Given the description of an element on the screen output the (x, y) to click on. 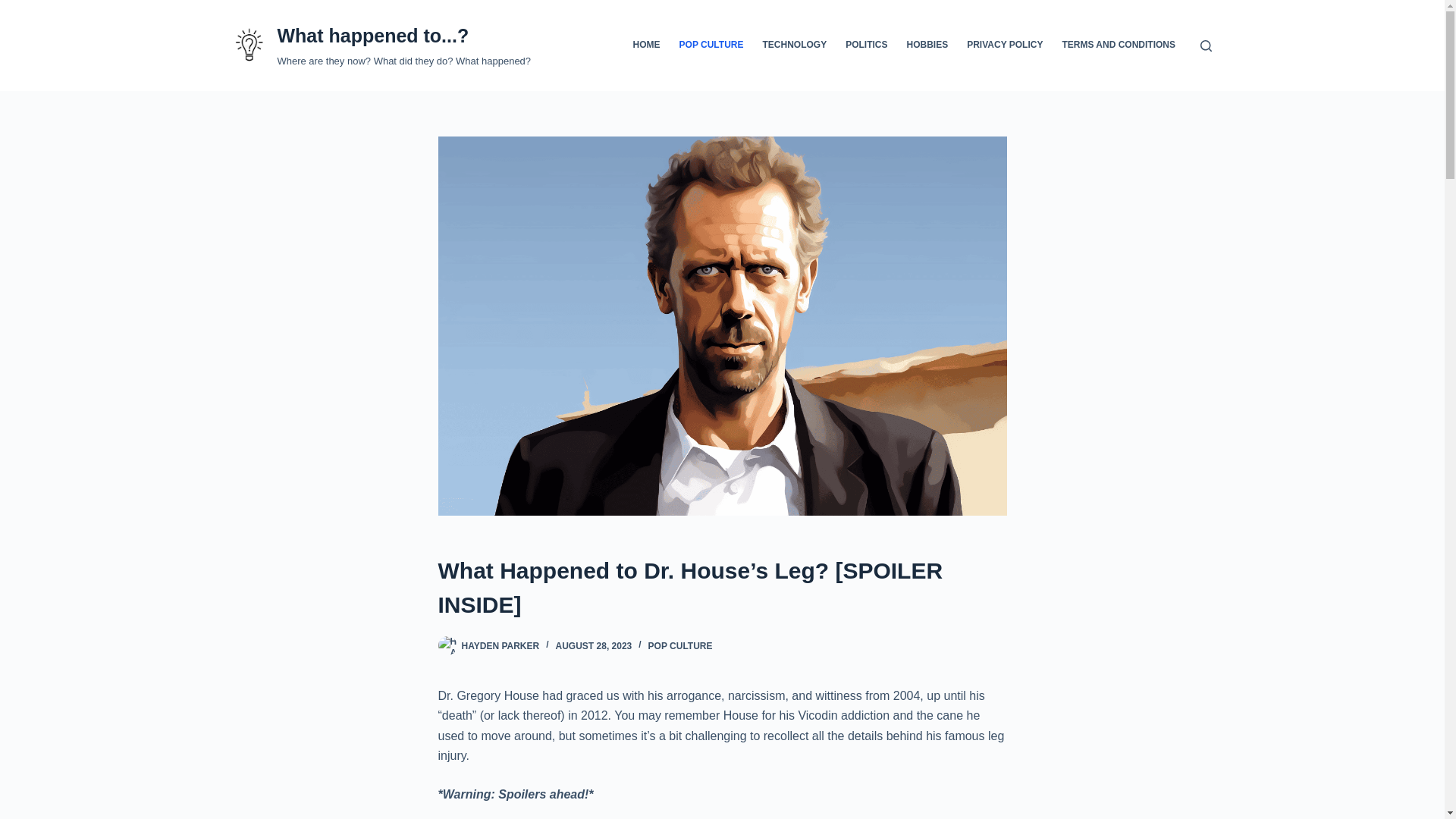
TECHNOLOGY (793, 45)
HAYDEN PARKER (499, 645)
What happened to...? (372, 35)
PRIVACY POLICY (1005, 45)
Skip to content (15, 7)
POP CULTURE (710, 45)
Posts by Hayden Parker (499, 645)
TERMS AND CONDITIONS (1118, 45)
POP CULTURE (680, 645)
